Given the description of an element on the screen output the (x, y) to click on. 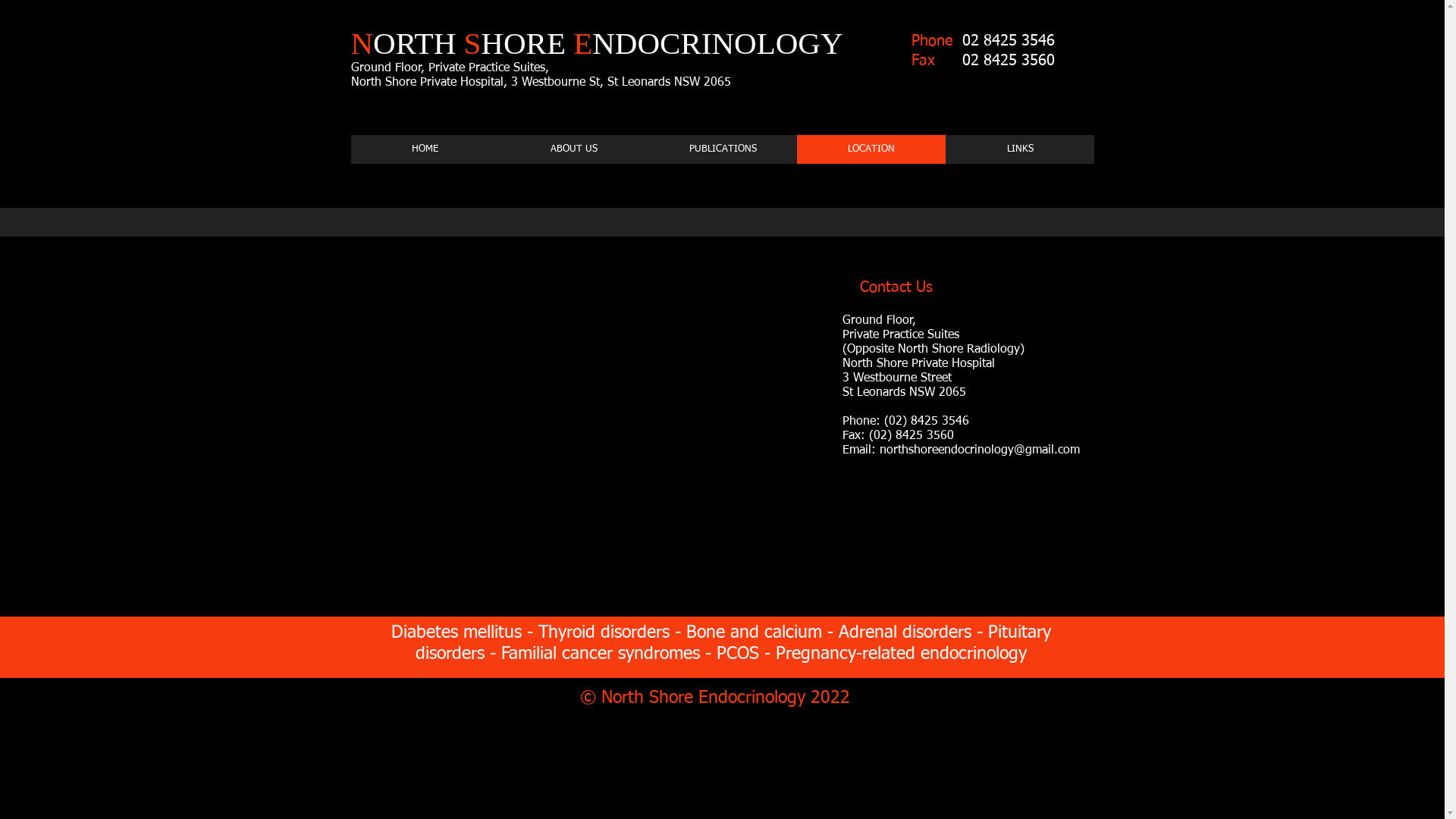
PUBLICATIONS Element type: text (721, 148)
ABOUT US Element type: text (572, 148)
northshoreendocrinology@gmail.com Element type: text (979, 450)
LINKS Element type: text (1018, 148)
LOCATION Element type: text (870, 148)
HOME Element type: text (424, 148)
